Given the description of an element on the screen output the (x, y) to click on. 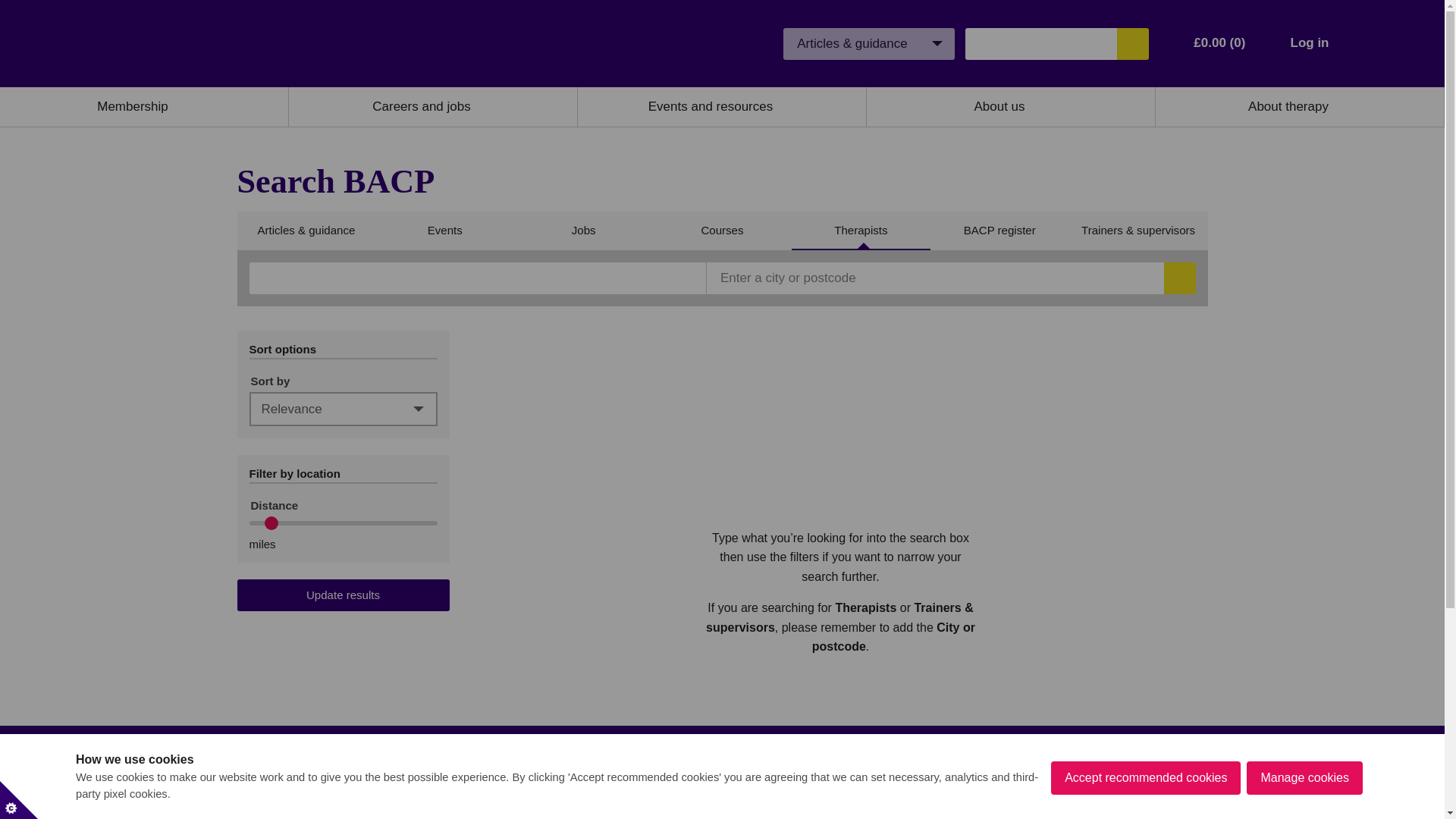
Log in (1309, 42)
10 (342, 522)
Careers and jobs (421, 106)
Search the BACP website (1132, 42)
Membership (132, 106)
Manage cookies (1304, 811)
Events and resources (710, 106)
